Given the description of an element on the screen output the (x, y) to click on. 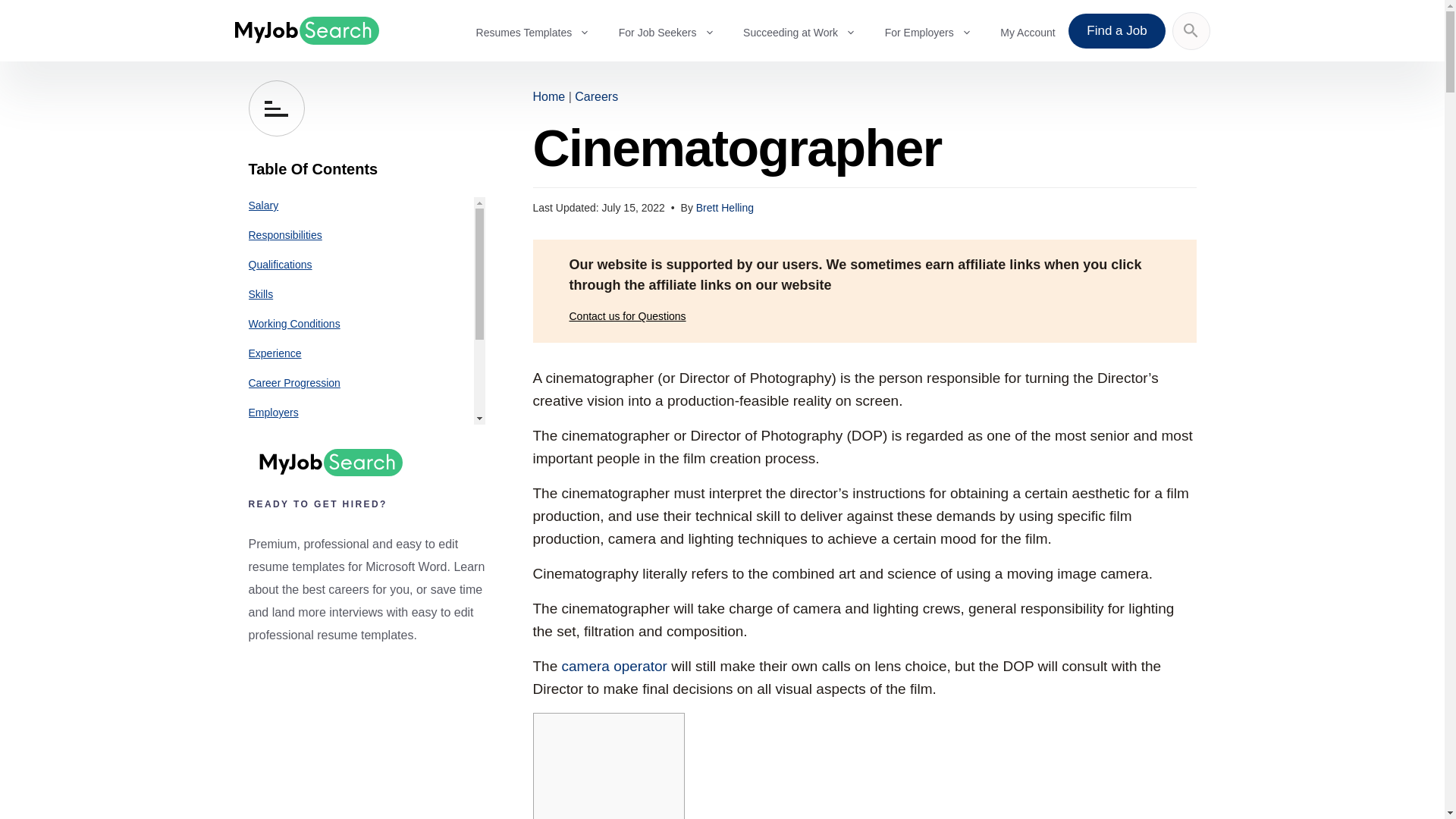
View all posts by Brett Helling (724, 207)
For Job Seekers (674, 30)
Resumes Templates (540, 30)
Succeeding at Work (806, 30)
